Given the description of an element on the screen output the (x, y) to click on. 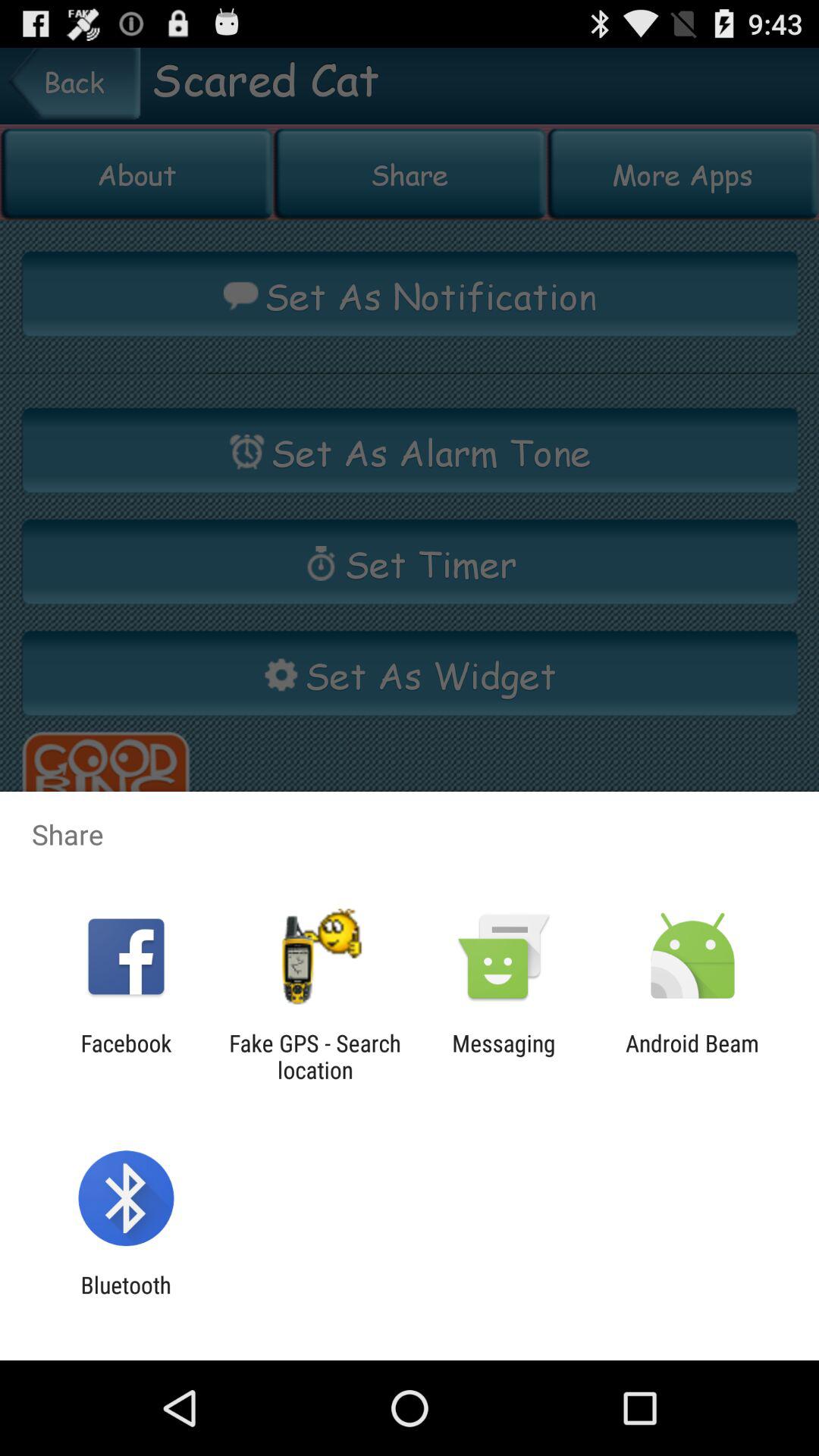
click app to the left of the fake gps search (125, 1056)
